Given the description of an element on the screen output the (x, y) to click on. 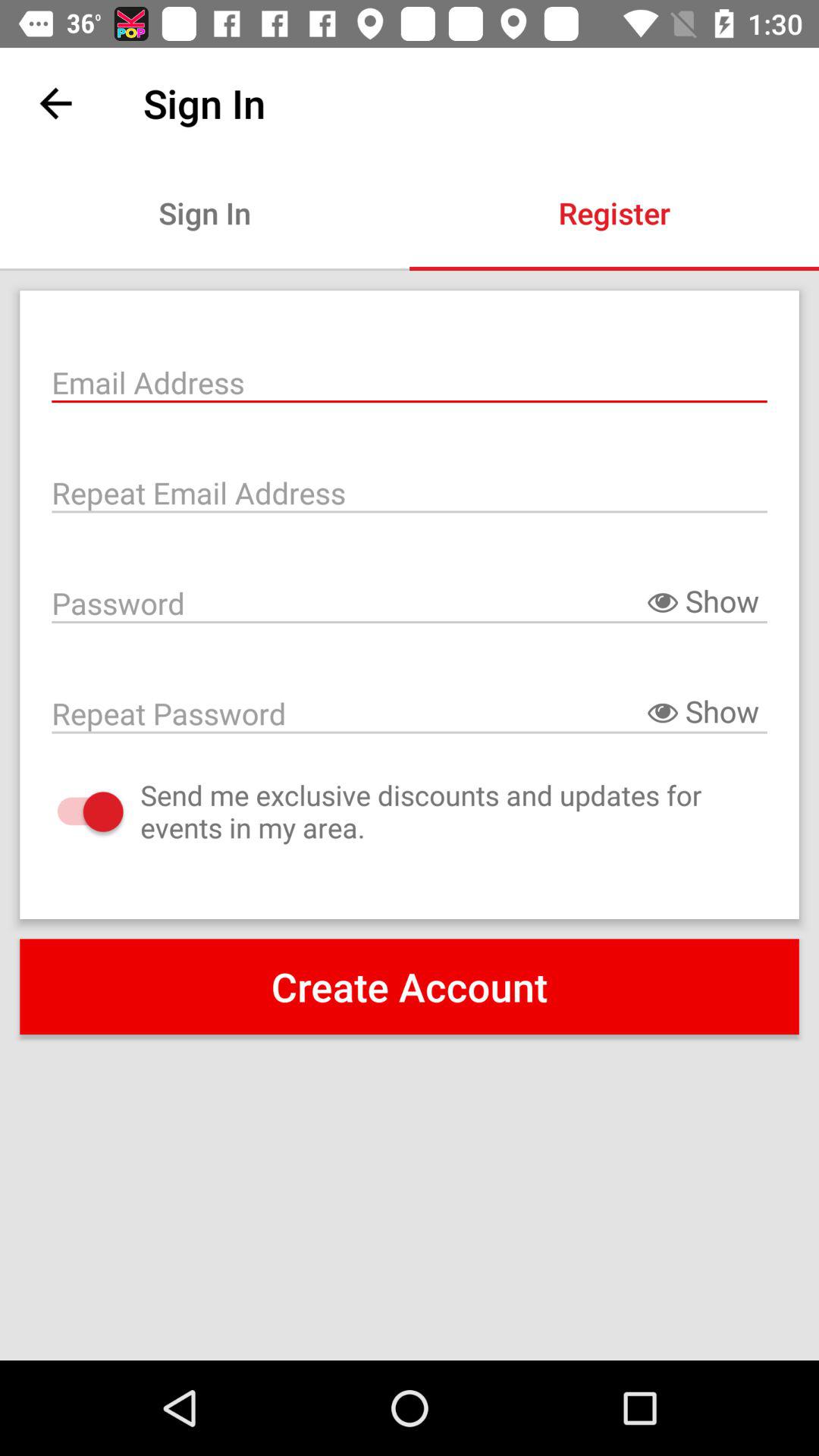
enter password (409, 601)
